Given the description of an element on the screen output the (x, y) to click on. 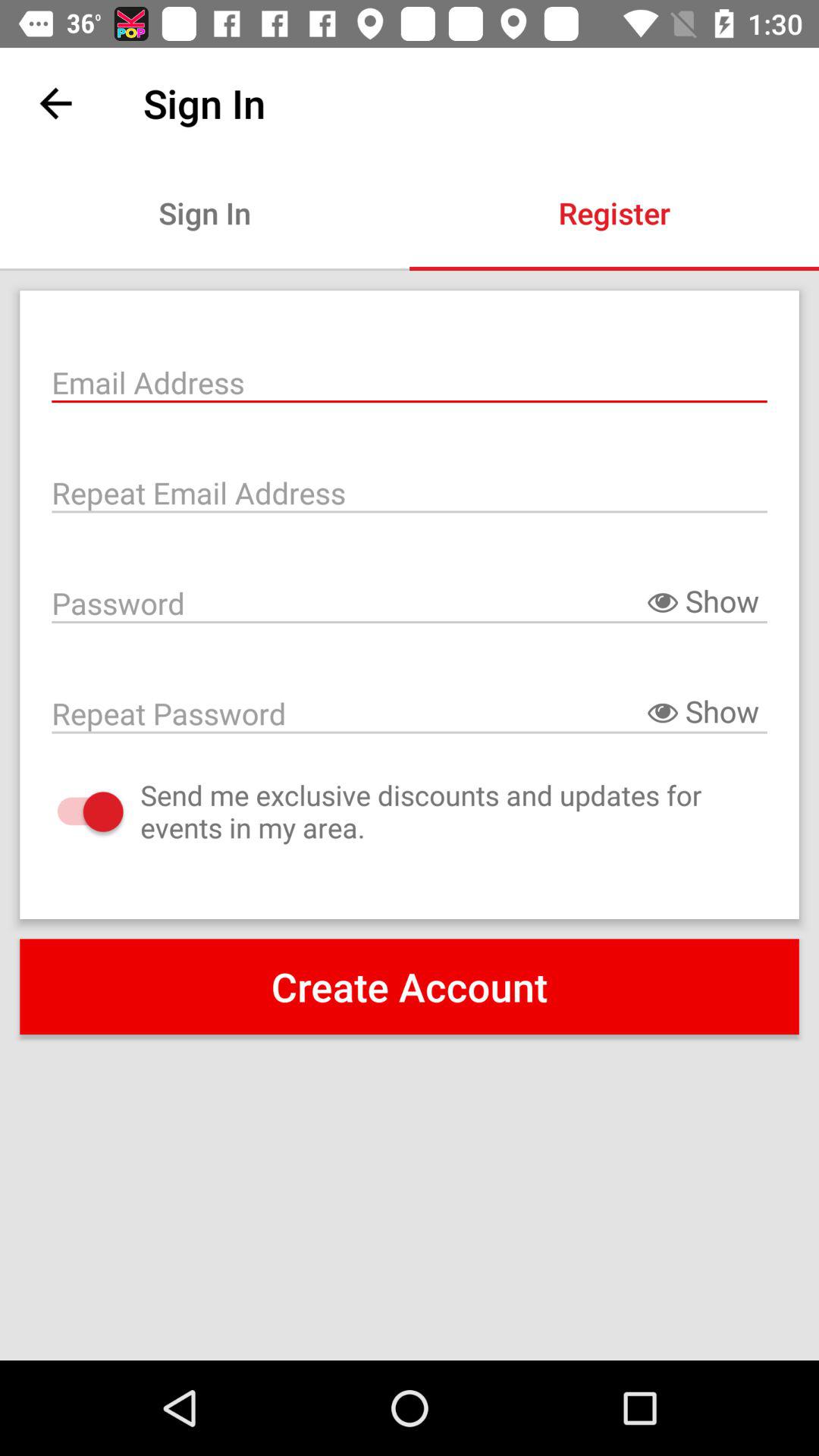
enter password (409, 601)
